Given the description of an element on the screen output the (x, y) to click on. 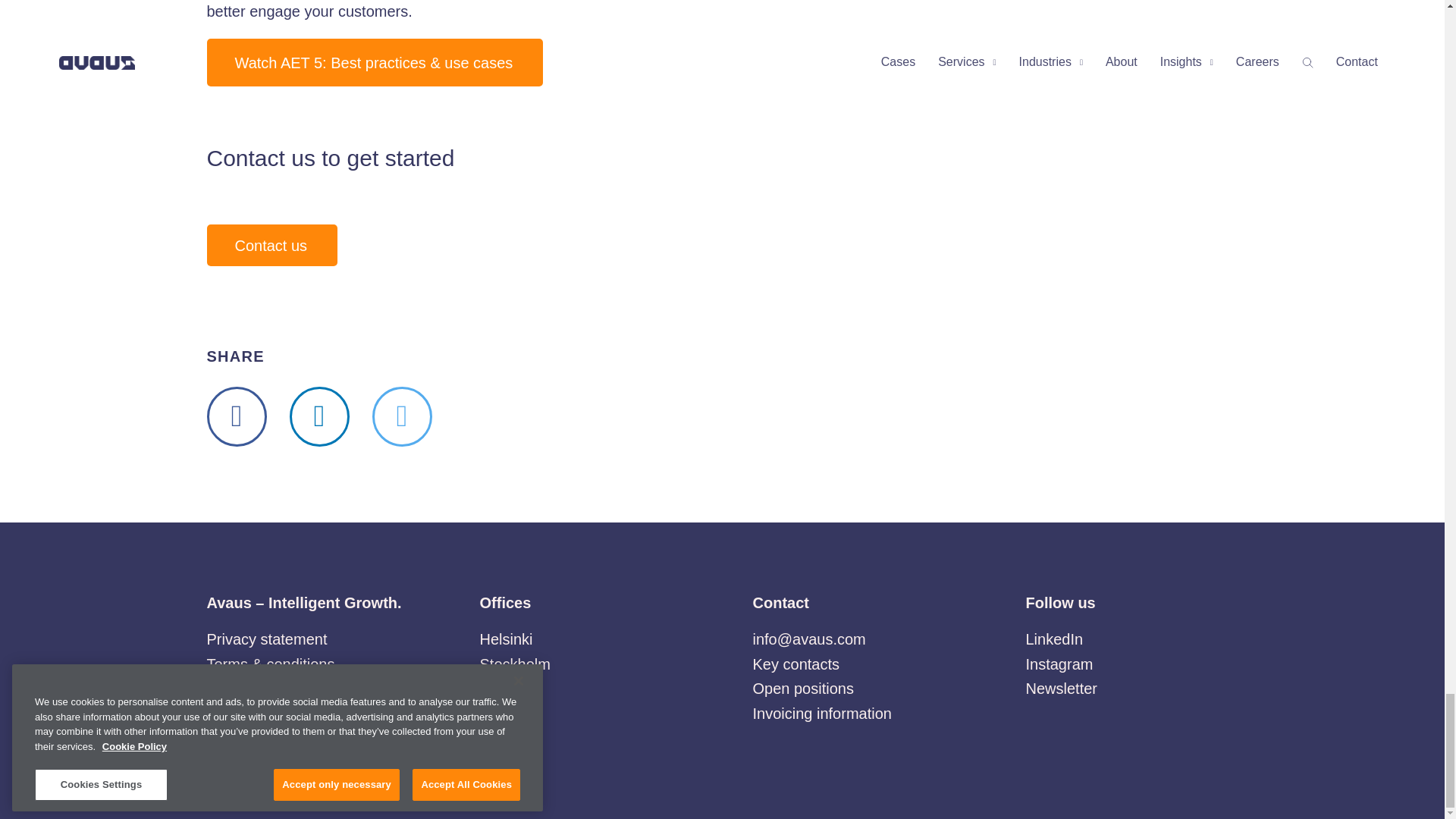
Share on Linkedin (319, 416)
Share on Facebook (236, 416)
Share on Twitter (400, 416)
